Given the description of an element on the screen output the (x, y) to click on. 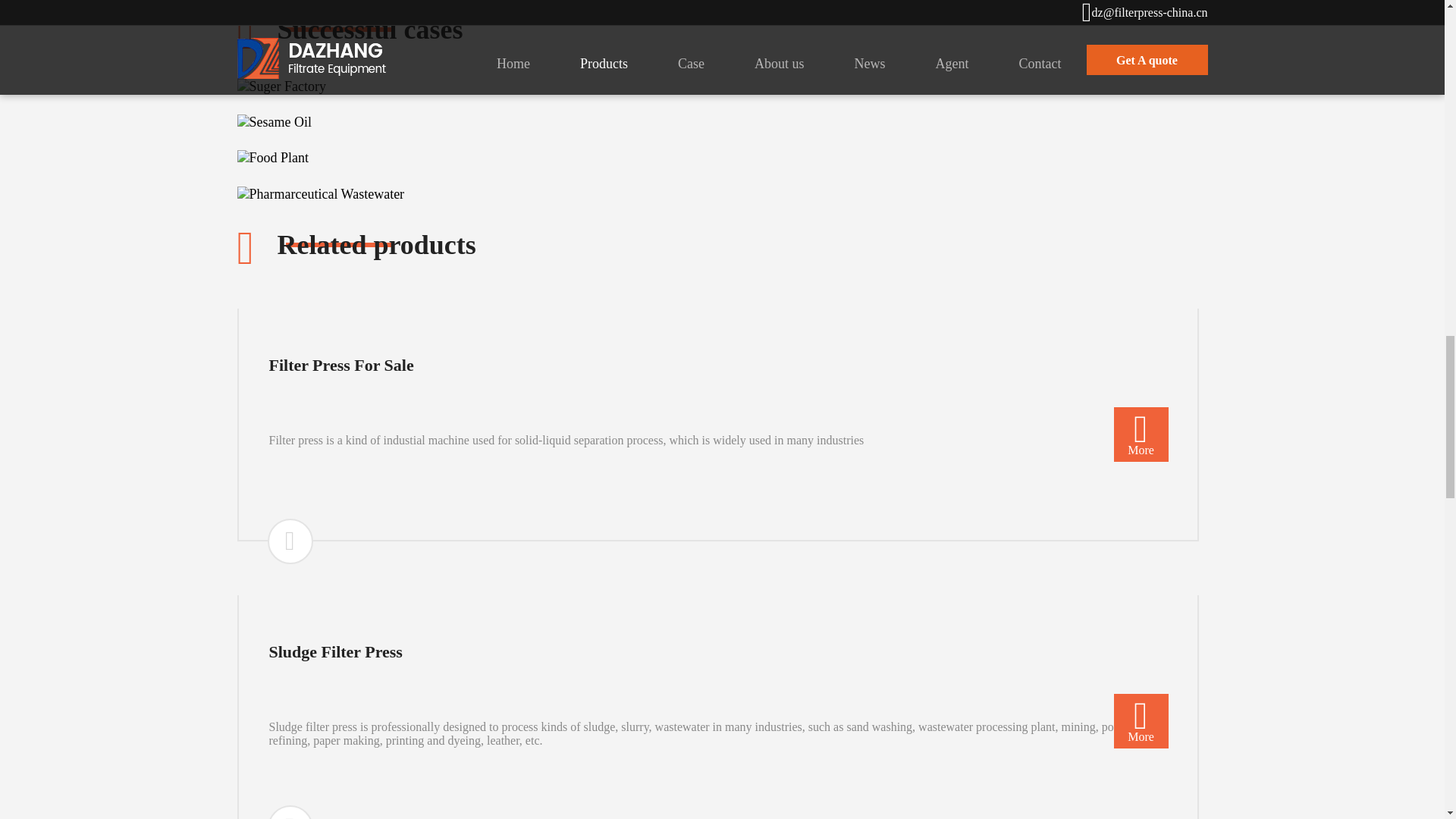
More (1140, 718)
Filter Press For Sale (716, 385)
More (1140, 432)
Sludge Filter Press (716, 672)
